Given the description of an element on the screen output the (x, y) to click on. 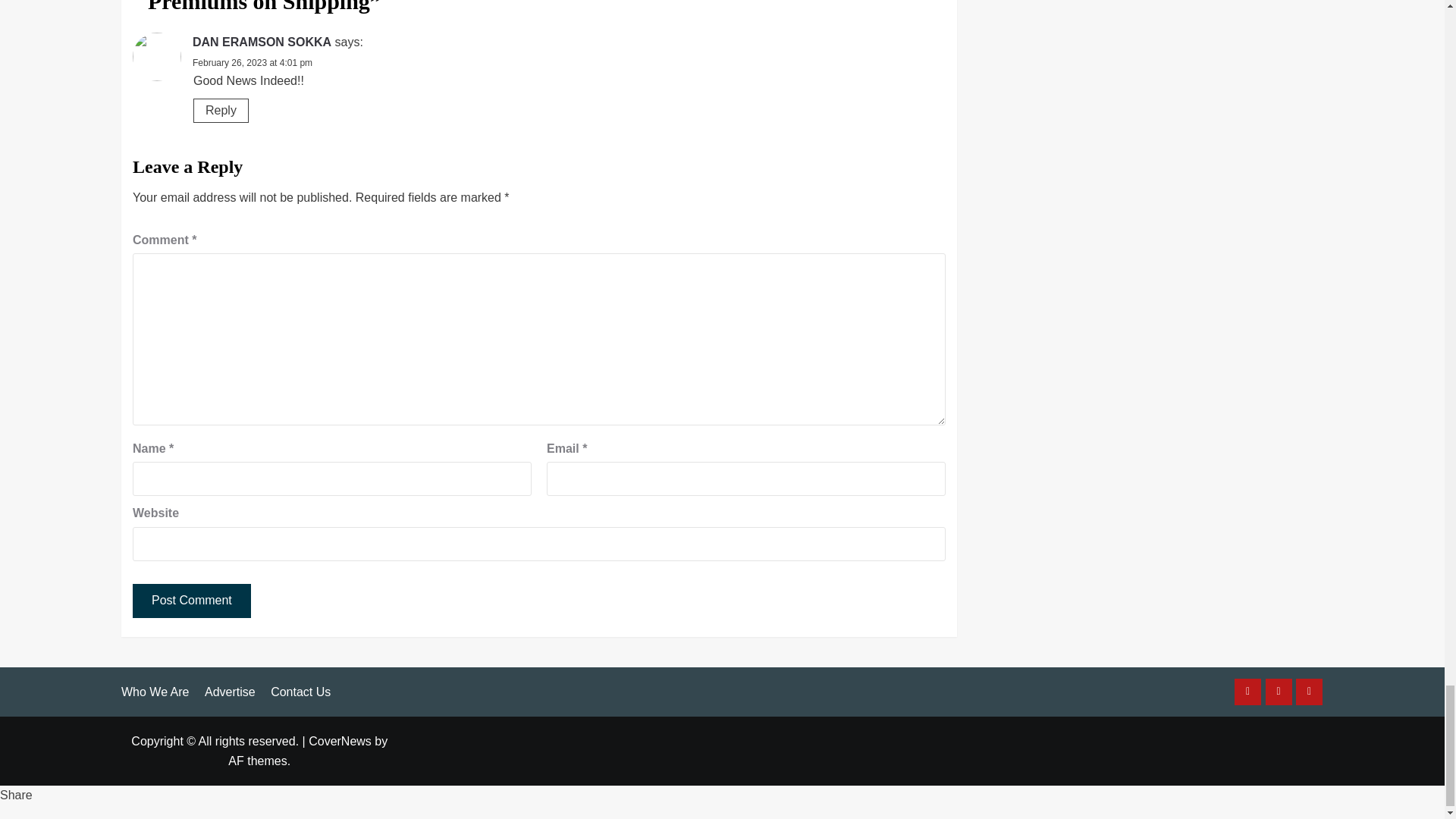
Post Comment (191, 600)
